Given the description of an element on the screen output the (x, y) to click on. 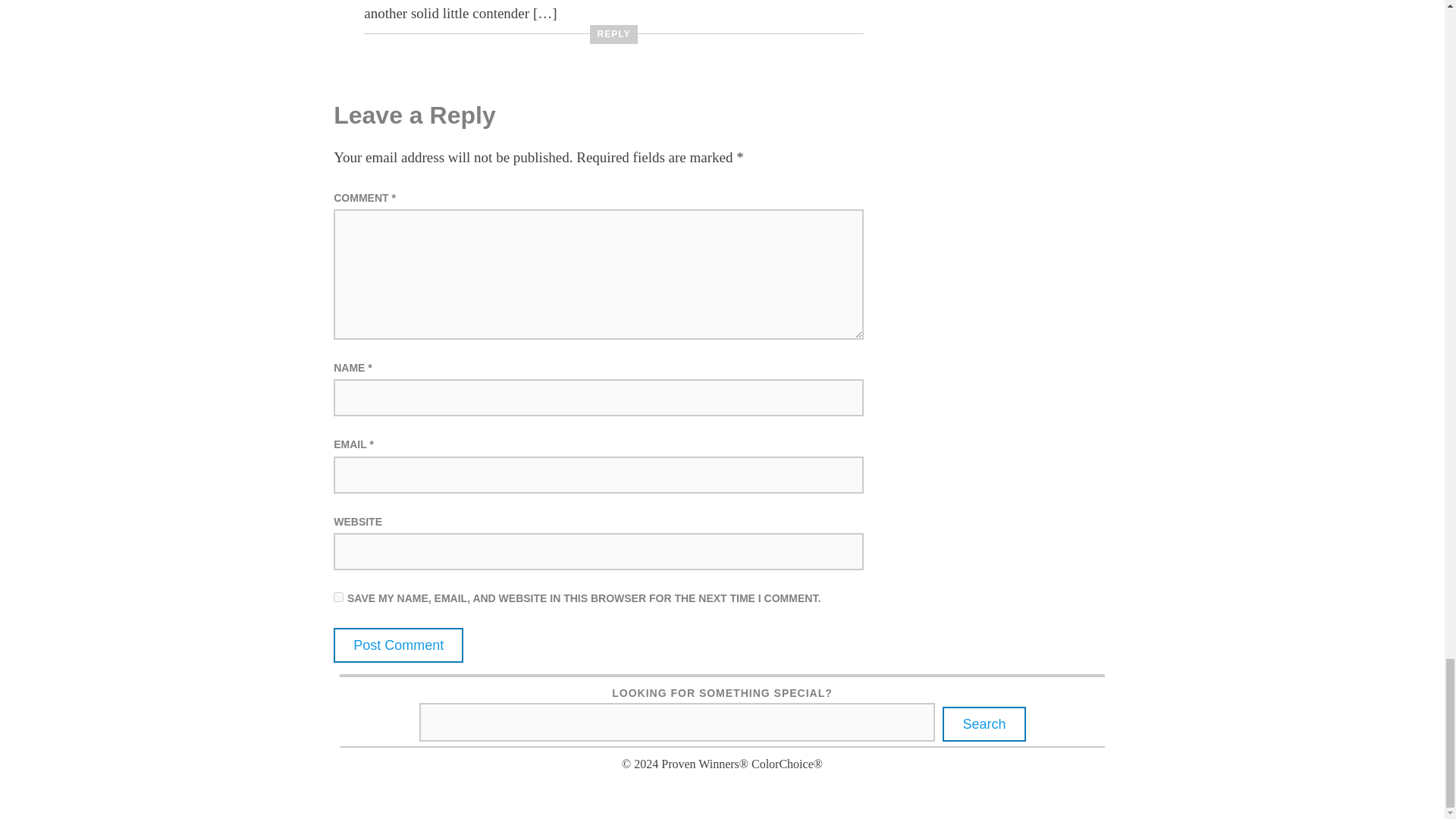
REPLY (614, 34)
Post Comment (398, 645)
Search (983, 724)
yes (338, 596)
Post Comment (398, 645)
